Given the description of an element on the screen output the (x, y) to click on. 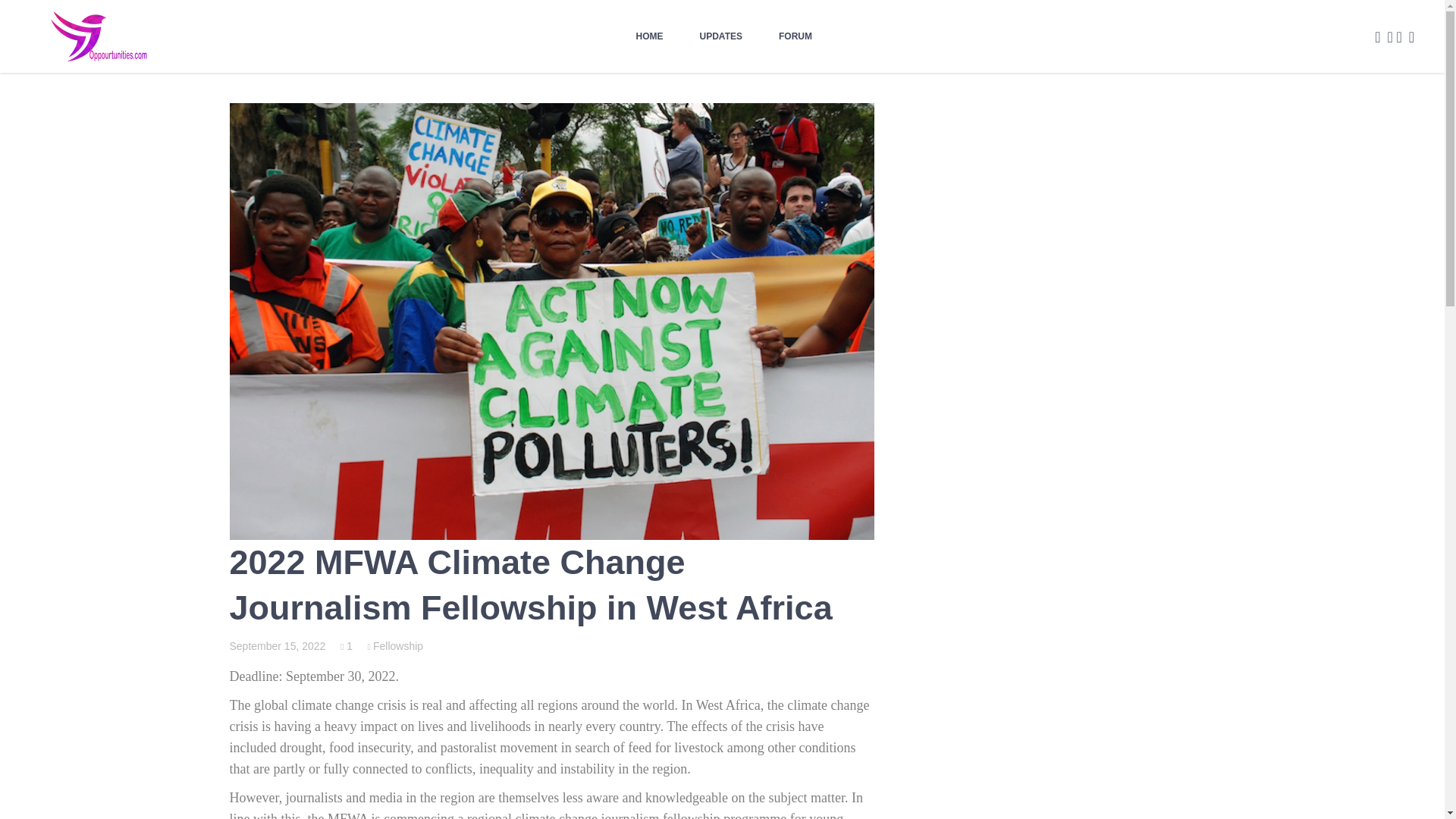
1 (346, 645)
Fellowship (395, 645)
Like this (346, 645)
UPDATES (720, 36)
FORUM (794, 36)
September 15, 2022 (276, 645)
